Given the description of an element on the screen output the (x, y) to click on. 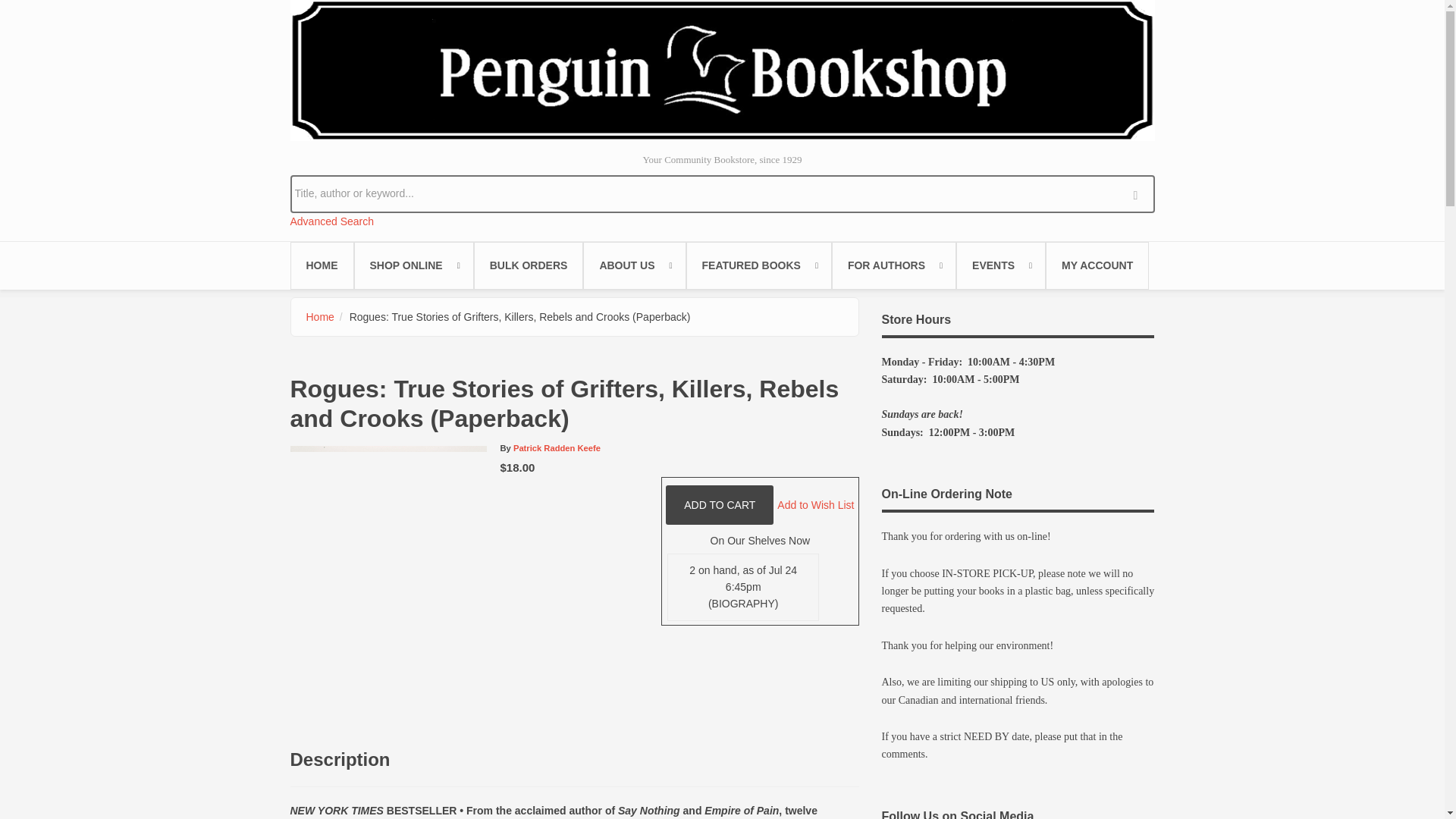
MY ACCOUNT (1096, 265)
Add to Cart (719, 504)
Advanced Search (331, 221)
search (1139, 193)
BULK ORDERS (528, 265)
Add to Wish List (815, 504)
Home (319, 316)
Title, author or keyword... (721, 193)
search (1139, 193)
Add to Cart (719, 504)
Self-published author information (893, 265)
FEATURED BOOKS (758, 265)
ABOUT US (634, 265)
Home (721, 69)
